Given the description of an element on the screen output the (x, y) to click on. 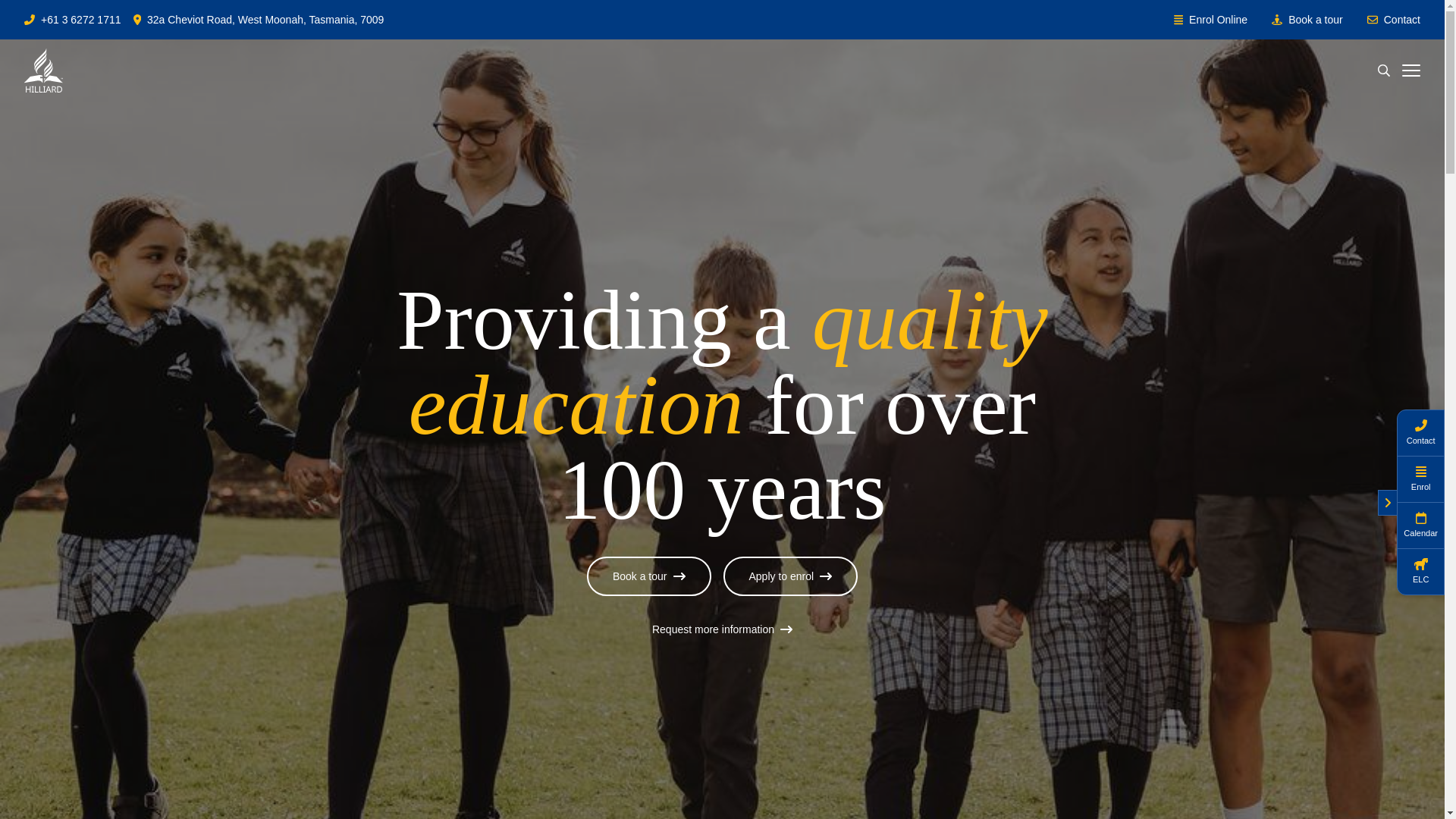
Request more information (722, 629)
Open menu (1411, 70)
Enrol Online (1218, 19)
Book a tour (648, 576)
Apply to enrol (791, 576)
Contact (1402, 19)
Book a tour (1315, 19)
